Given the description of an element on the screen output the (x, y) to click on. 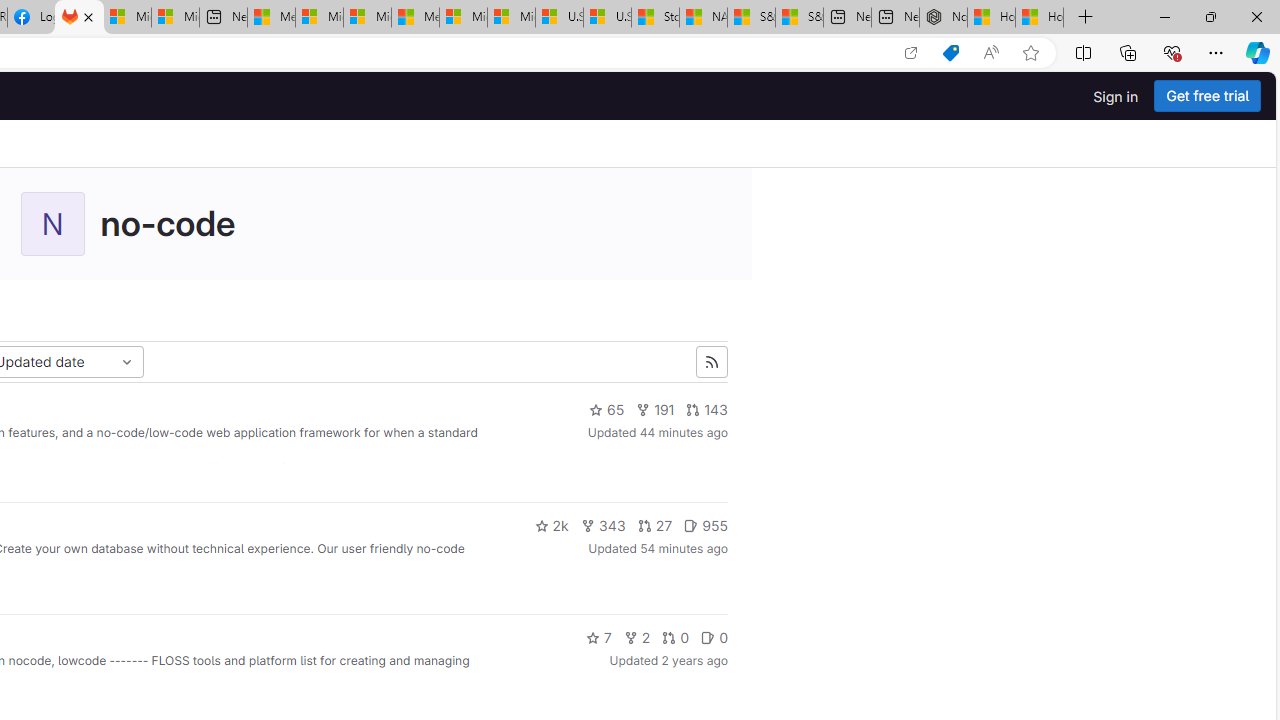
343 (602, 525)
2 (637, 637)
191 (655, 409)
27 (655, 525)
https://dev.tiki.org/Where-To-Commit (283, 468)
Subscribe to the new projects feed (712, 362)
Class: s14 gl-mr-2 (708, 637)
955 (705, 525)
0 (714, 637)
Microsoft account | Home (367, 17)
